Given the description of an element on the screen output the (x, y) to click on. 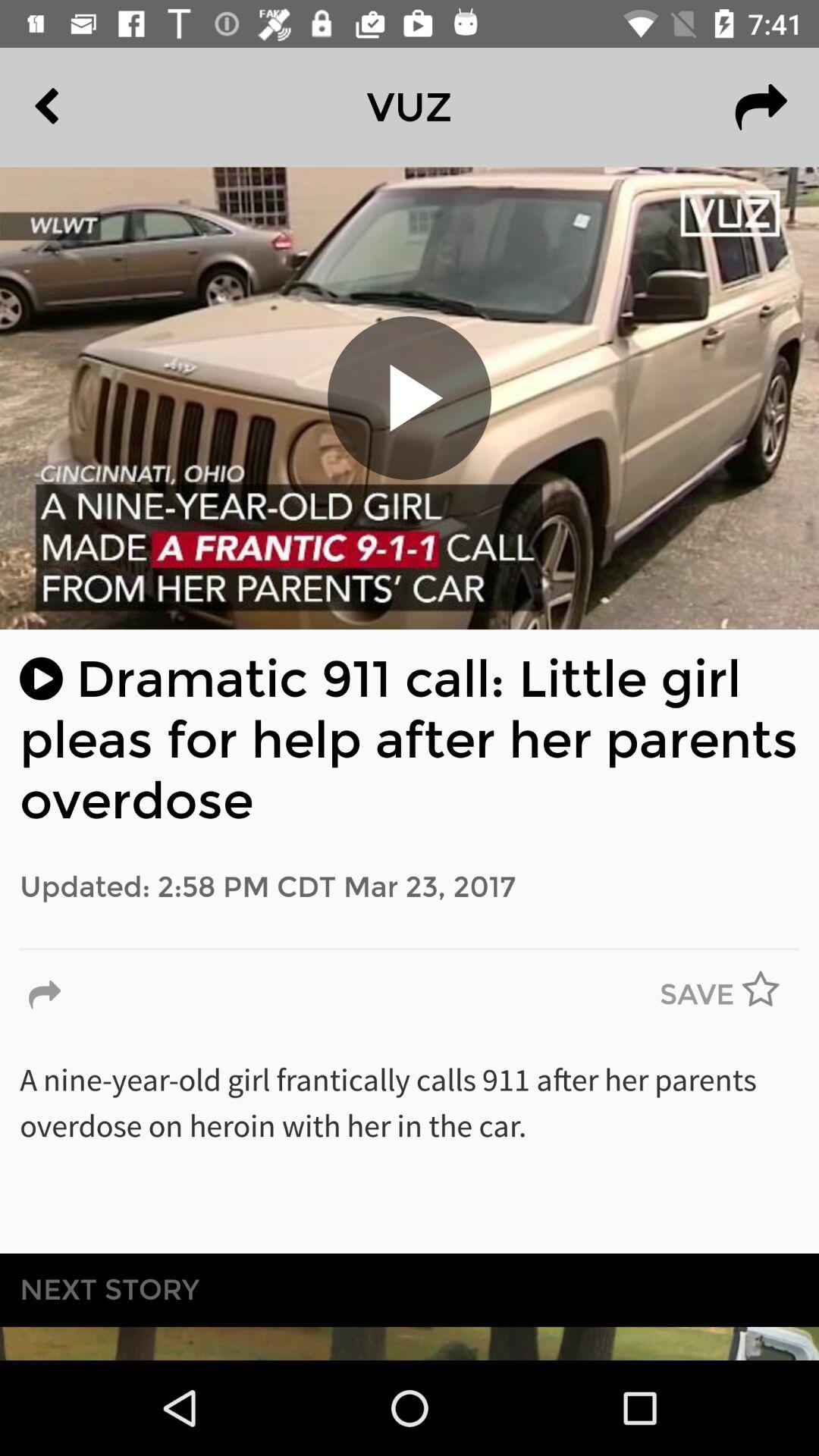
click item next to the vuz (761, 107)
